Given the description of an element on the screen output the (x, y) to click on. 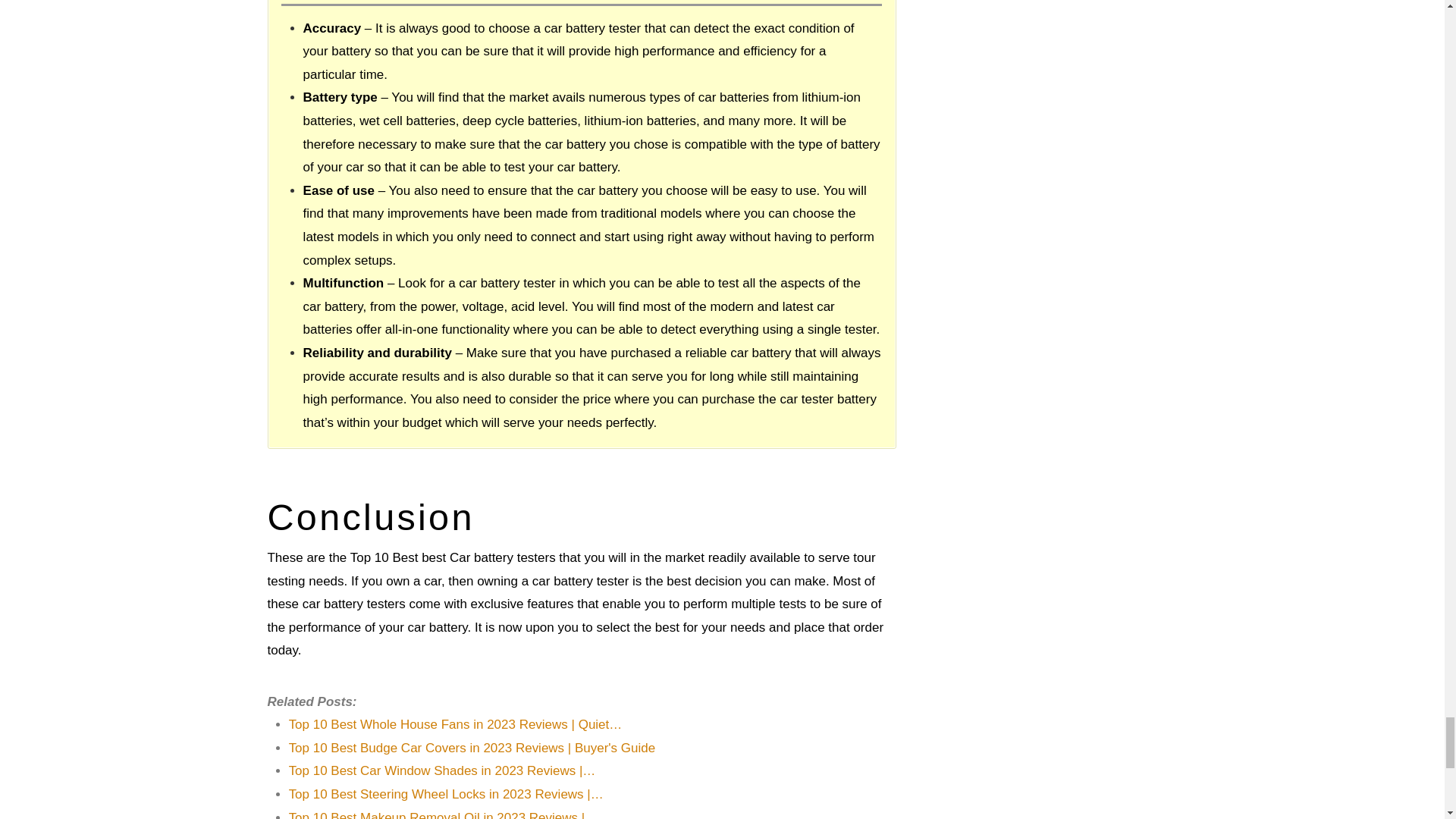
Go to top (861, 2)
